Given the description of an element on the screen output the (x, y) to click on. 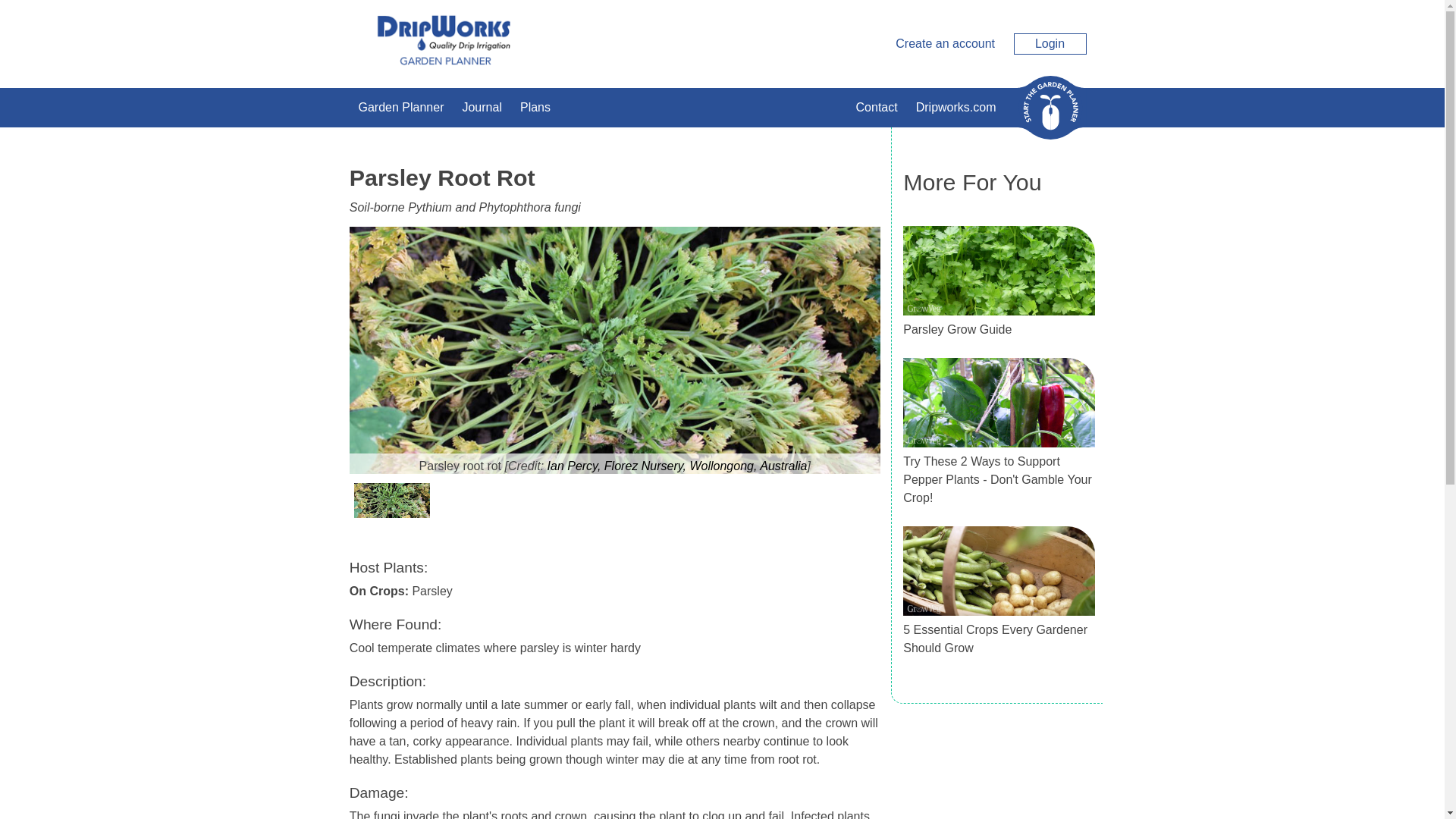
Journal (480, 107)
Ian Percy, Florez Nursery, Wollongong, Australia (677, 465)
Login (1049, 43)
Create an account (944, 42)
Dripworks.com (955, 107)
Contact (877, 107)
Parsley Grow Guide (956, 328)
Go back to the main website (955, 107)
Garden Planner (401, 107)
5 Essential Crops Every Gardener Should Grow (994, 638)
